Given the description of an element on the screen output the (x, y) to click on. 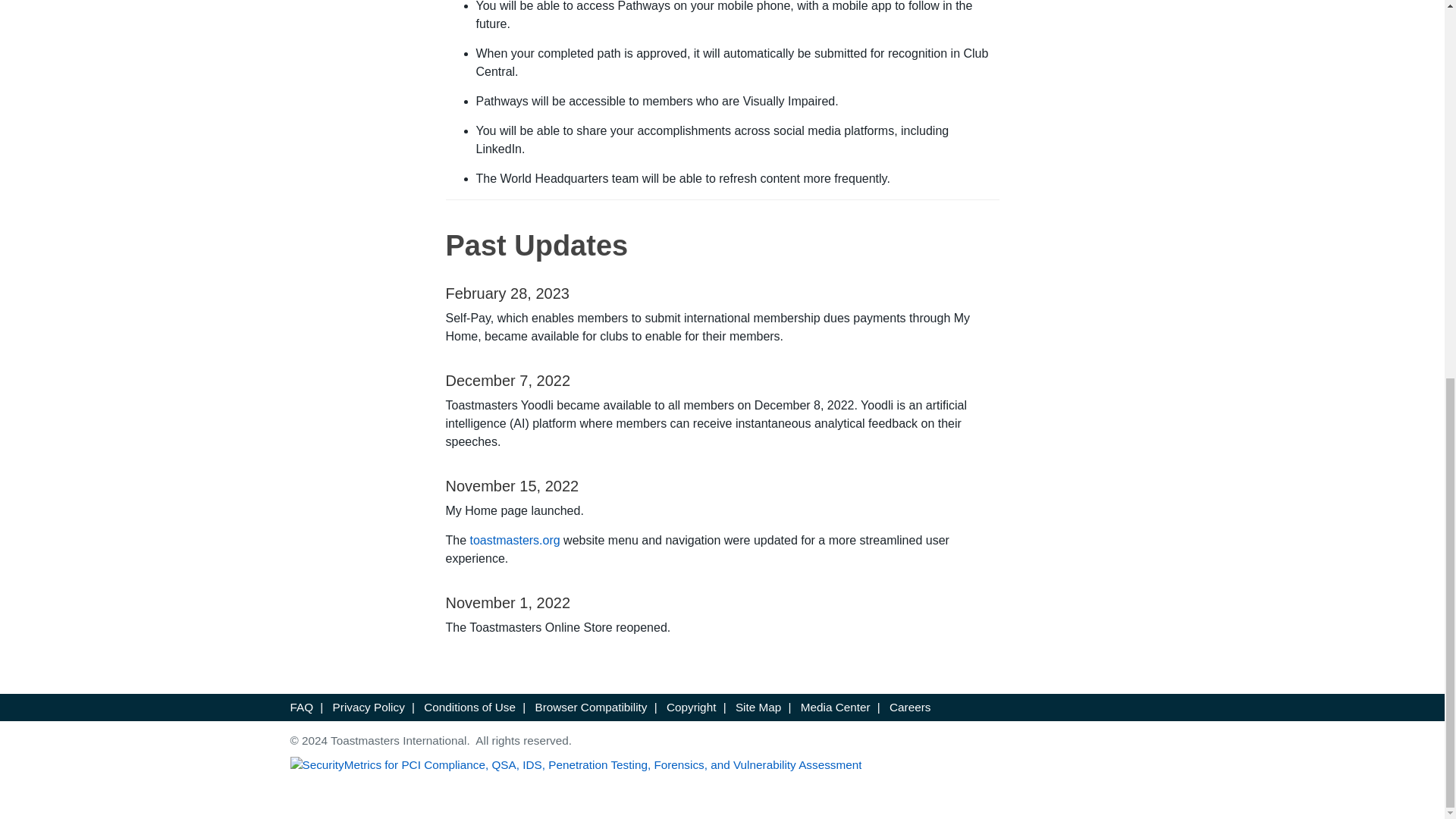
Privacy Policy (368, 707)
Browser Compatibility (591, 707)
Careers (909, 707)
Media Center (835, 707)
toastmasters.org (515, 540)
Conditions of Use (469, 707)
Site Map (757, 707)
Copyright (691, 707)
FAQ (301, 707)
